Given the description of an element on the screen output the (x, y) to click on. 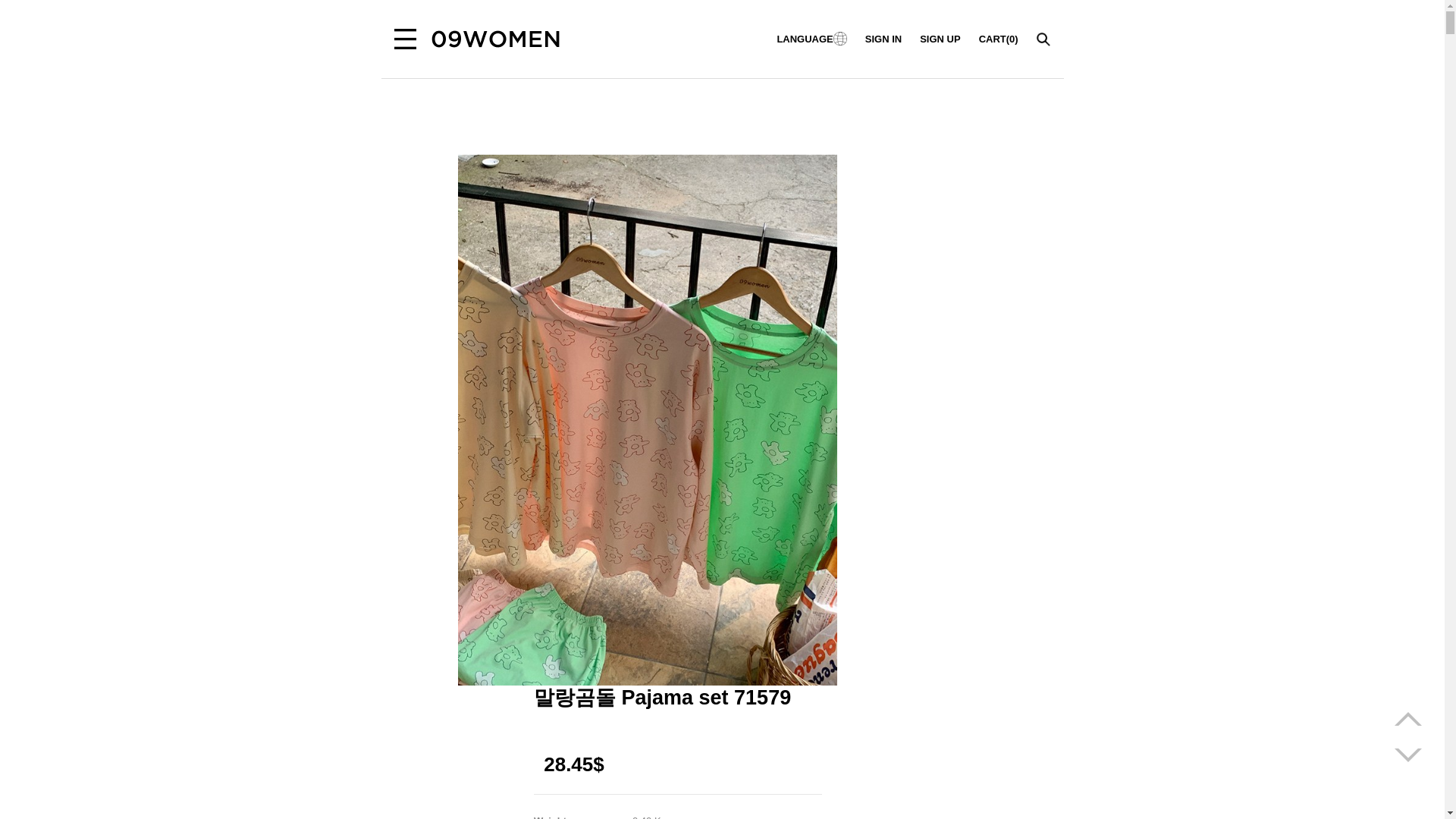
LANGUAGE (810, 39)
SIGN UP (939, 39)
SIGN IN (882, 39)
